Given the description of an element on the screen output the (x, y) to click on. 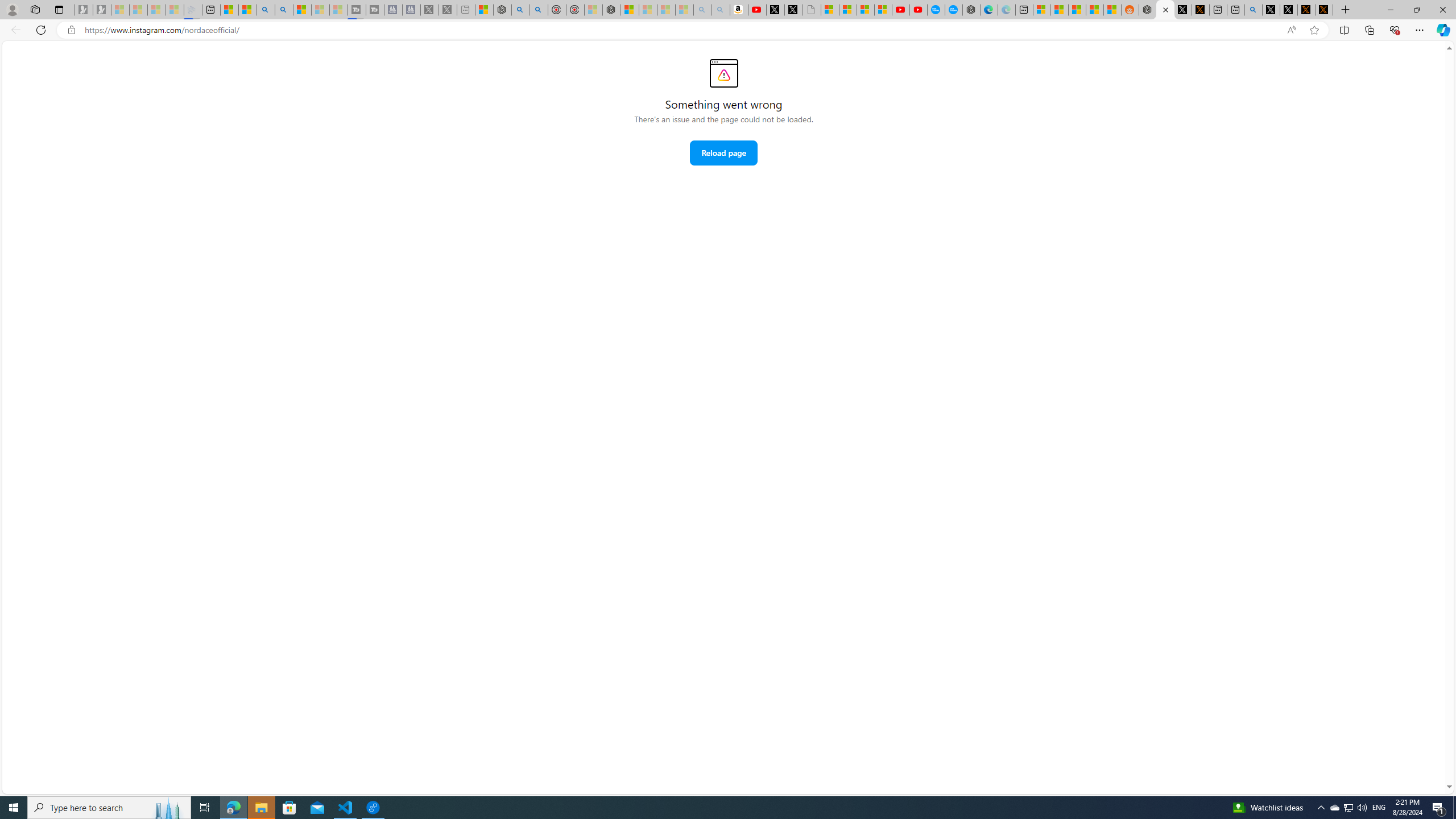
Day 1: Arriving in Yemen (surreal to be here) - YouTube (757, 9)
Untitled (811, 9)
Shanghai, China hourly forecast | Microsoft Weather (1076, 9)
Amazon Echo Dot PNG - Search Images - Sleeping (721, 9)
github - Search (1253, 9)
Shanghai, China Weather trends | Microsoft Weather (1112, 9)
